Given the description of an element on the screen output the (x, y) to click on. 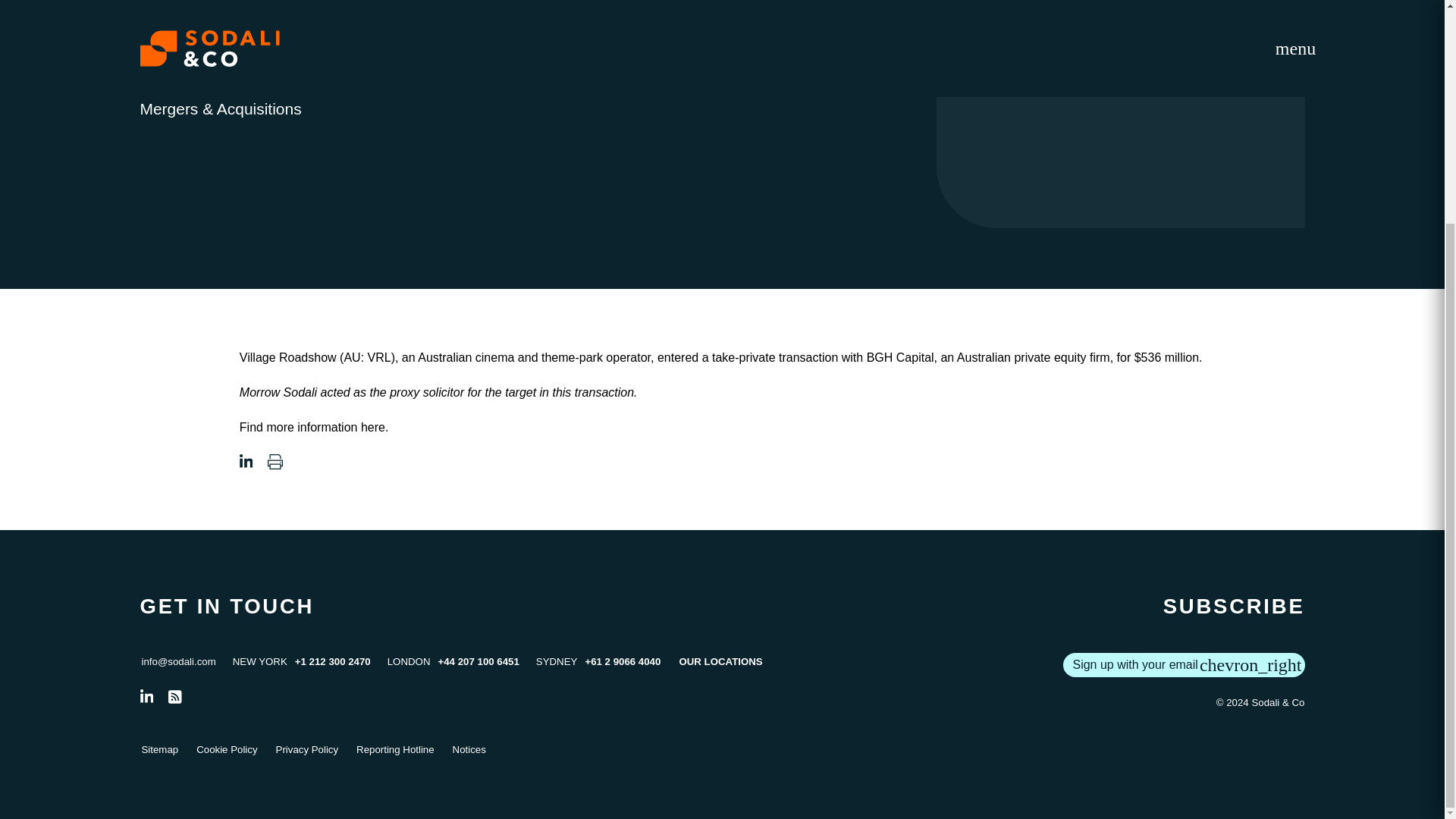
Notices (469, 750)
here (373, 427)
Reporting Hotline (395, 750)
BGH Capital (900, 357)
Sitemap (159, 750)
Privacy Policy (307, 750)
Village Roadshow (288, 357)
OUR LOCATIONS (719, 661)
Cookie Policy (227, 750)
